Given the description of an element on the screen output the (x, y) to click on. 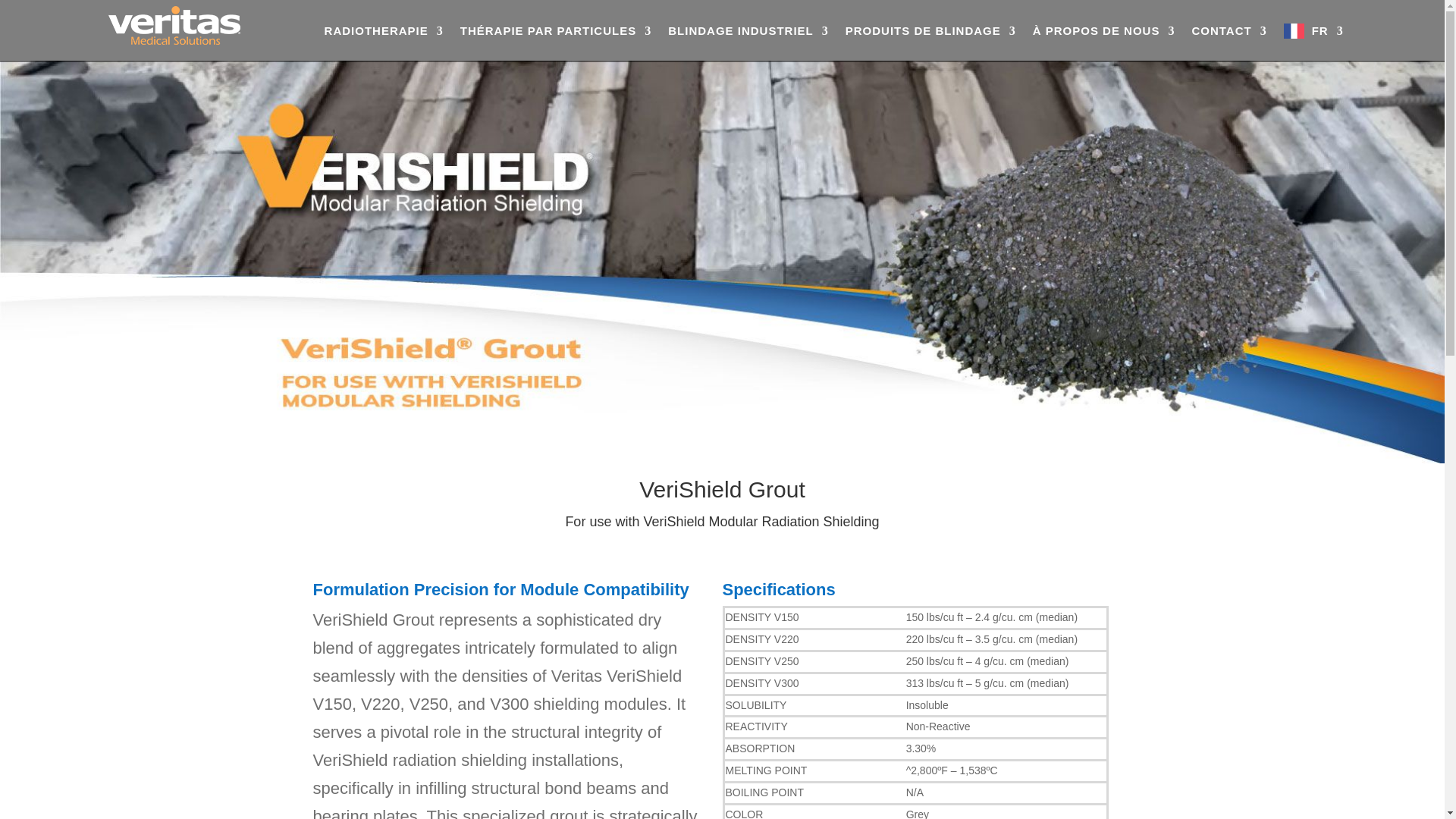
CONTACT (1228, 31)
PRODUITS DE BLINDAGE (930, 31)
RADIOTHERAPIE (384, 31)
BLINDAGE INDUSTRIEL (748, 31)
FR (1313, 31)
